Given the description of an element on the screen output the (x, y) to click on. 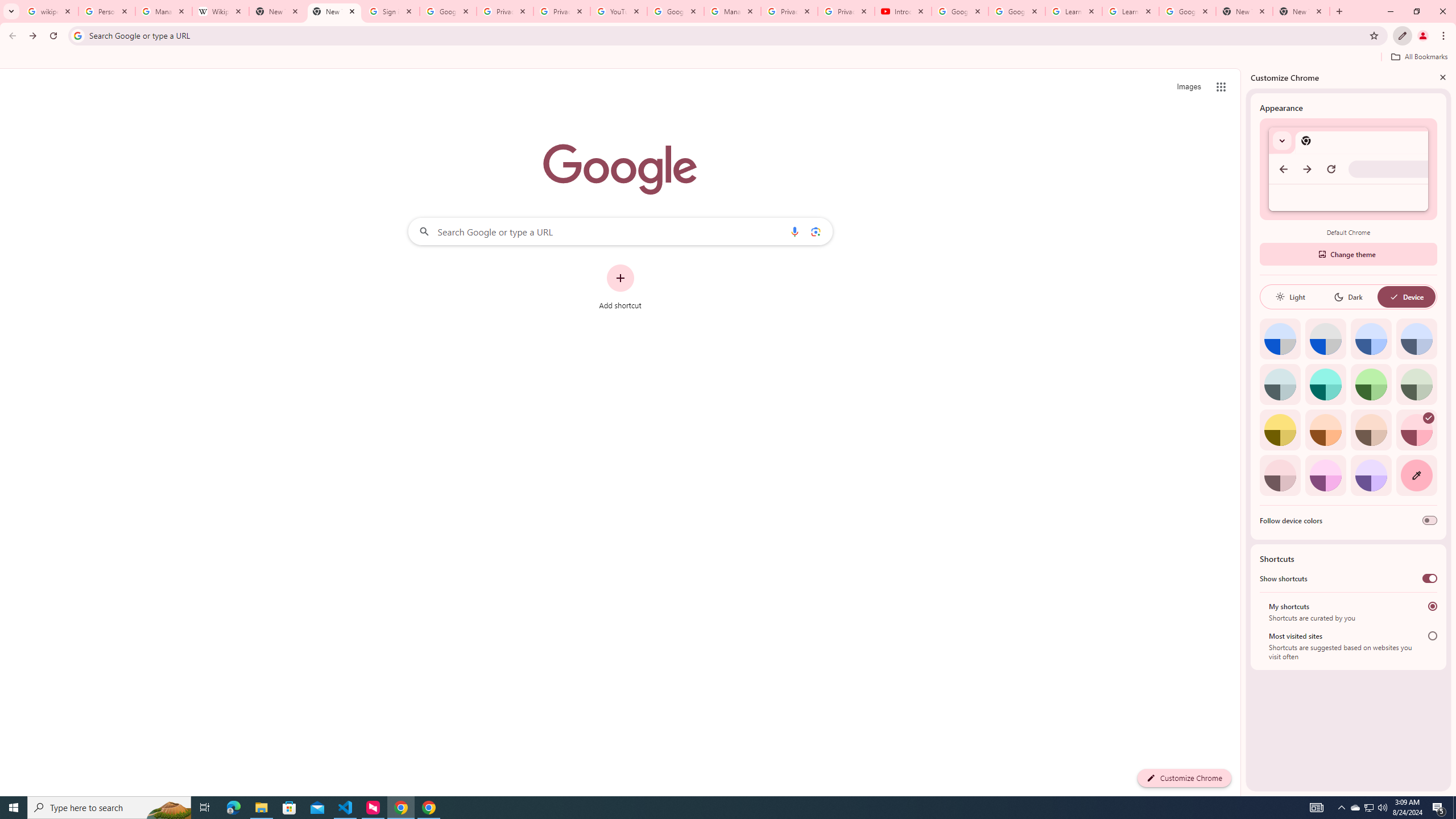
Rose (1416, 429)
Google Account (1187, 11)
Cool grey (1416, 338)
Search for Images  (1188, 87)
Apricot (1371, 429)
Search by voice (794, 230)
